Given the description of an element on the screen output the (x, y) to click on. 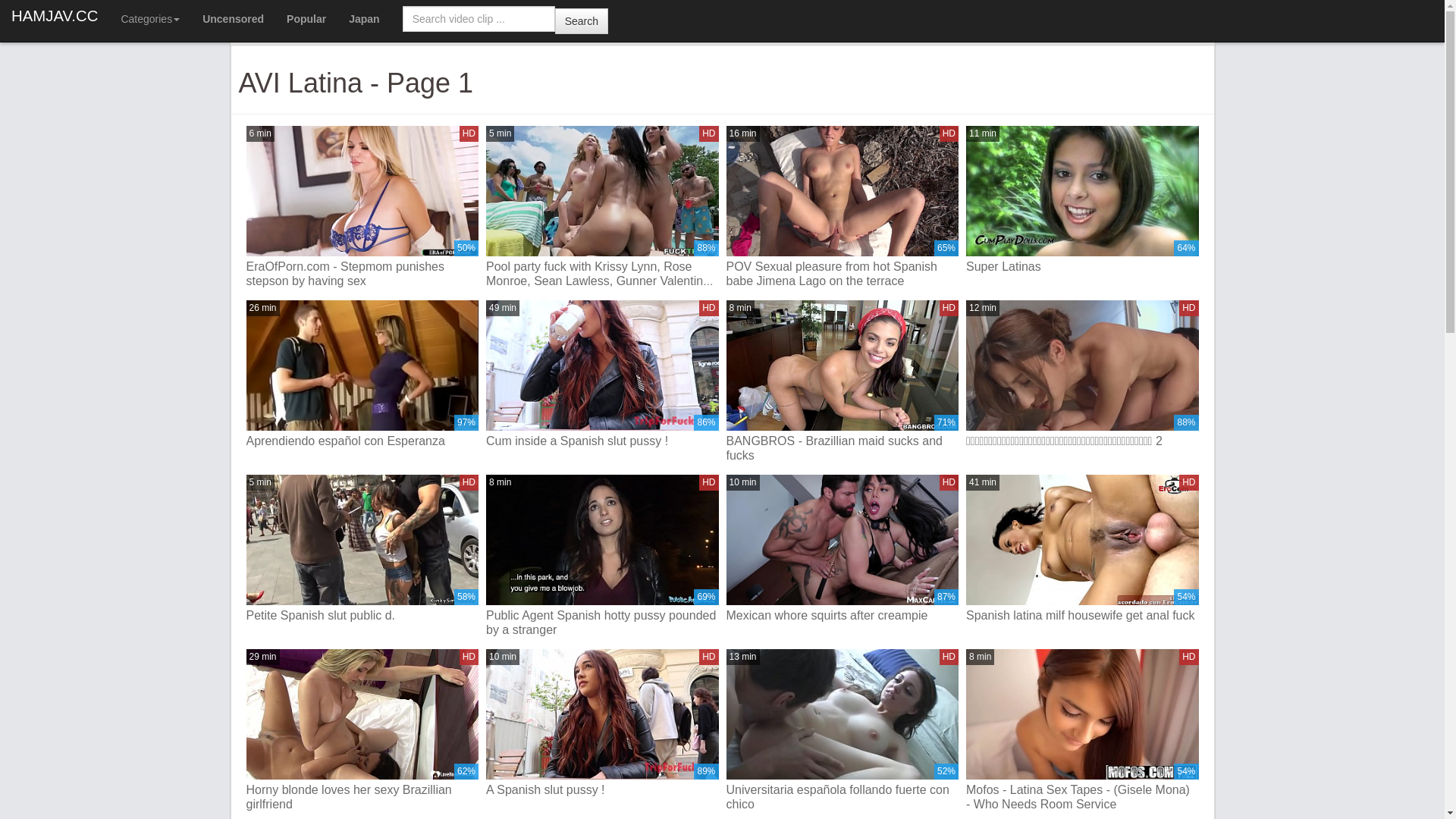
Japan Element type: text (363, 18)
Uncensored Element type: text (233, 18)
Super Latinas
11 min
64% Element type: text (1082, 206)
HAMJAV.CC Element type: text (54, 15)
Search Element type: text (581, 20)
Mexican whore squirts after creampie
10 min
87%
HD Element type: text (842, 555)
Popular Element type: text (306, 18)
A Spanish slut pussy !
10 min
89%
HD Element type: text (602, 730)
Spanish latina milf housewife get anal fuck
41 min
54%
HD Element type: text (1082, 555)
Petite Spanish slut public d.
5 min
58%
HD Element type: text (361, 555)
BANGBROS - Brazillian maid sucks and fucks
8 min
71%
HD Element type: text (842, 381)
Categories Element type: text (150, 18)
Cum inside a Spanish slut pussy !
49 min
86%
HD Element type: text (602, 381)
